Given the description of an element on the screen output the (x, y) to click on. 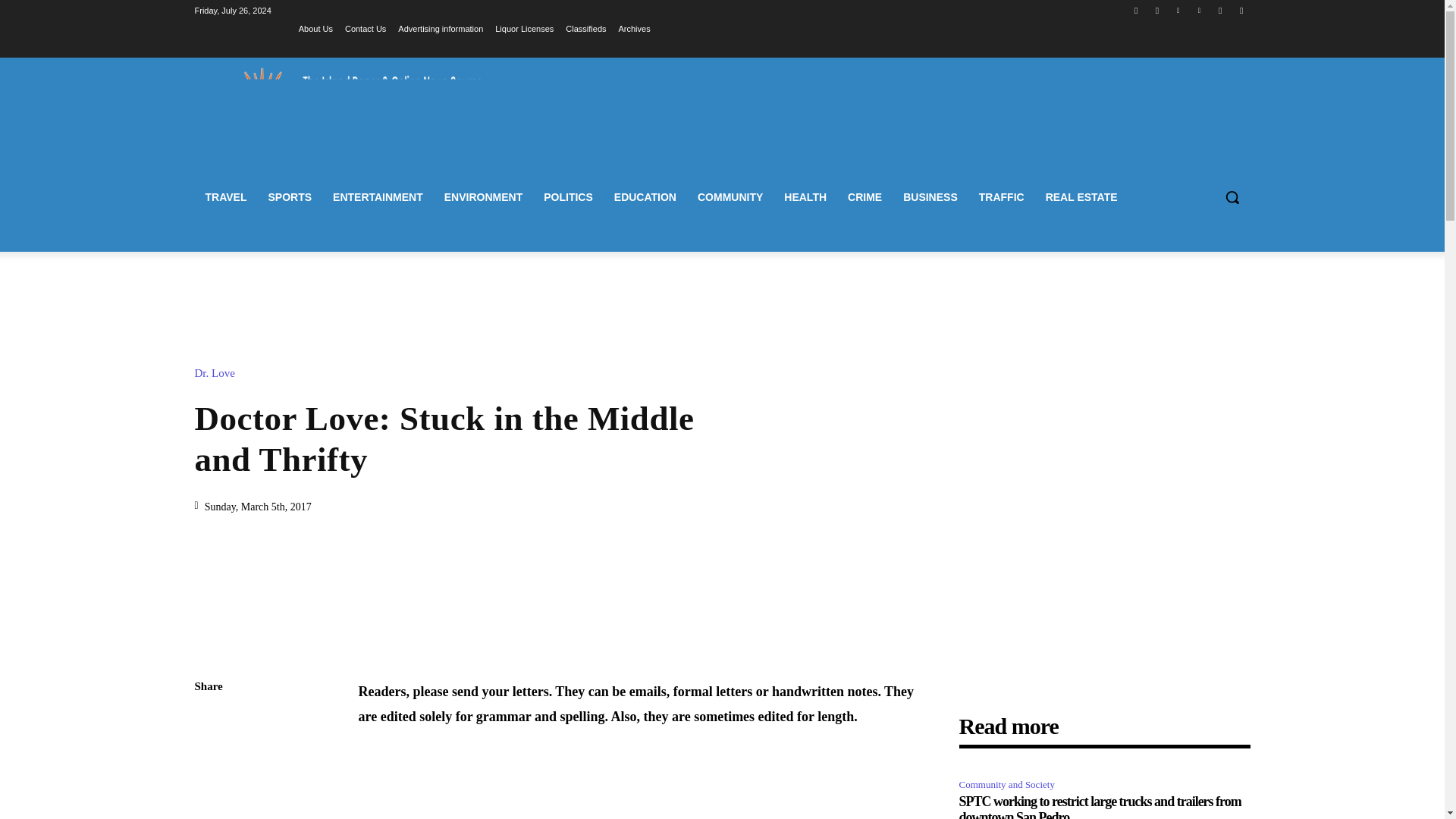
Classifieds (585, 28)
BUSINESS (930, 197)
POLITICS (568, 197)
Instagram (1157, 9)
Pinterest (1199, 9)
Twitter (1219, 9)
CRIME (864, 197)
ENTERTAINMENT (377, 197)
EDUCATION (645, 197)
Youtube (1241, 9)
TRAVEL (225, 197)
TRAFFIC (1001, 197)
Archives (634, 28)
About Us (315, 28)
COMMUNITY (730, 197)
